Given the description of an element on the screen output the (x, y) to click on. 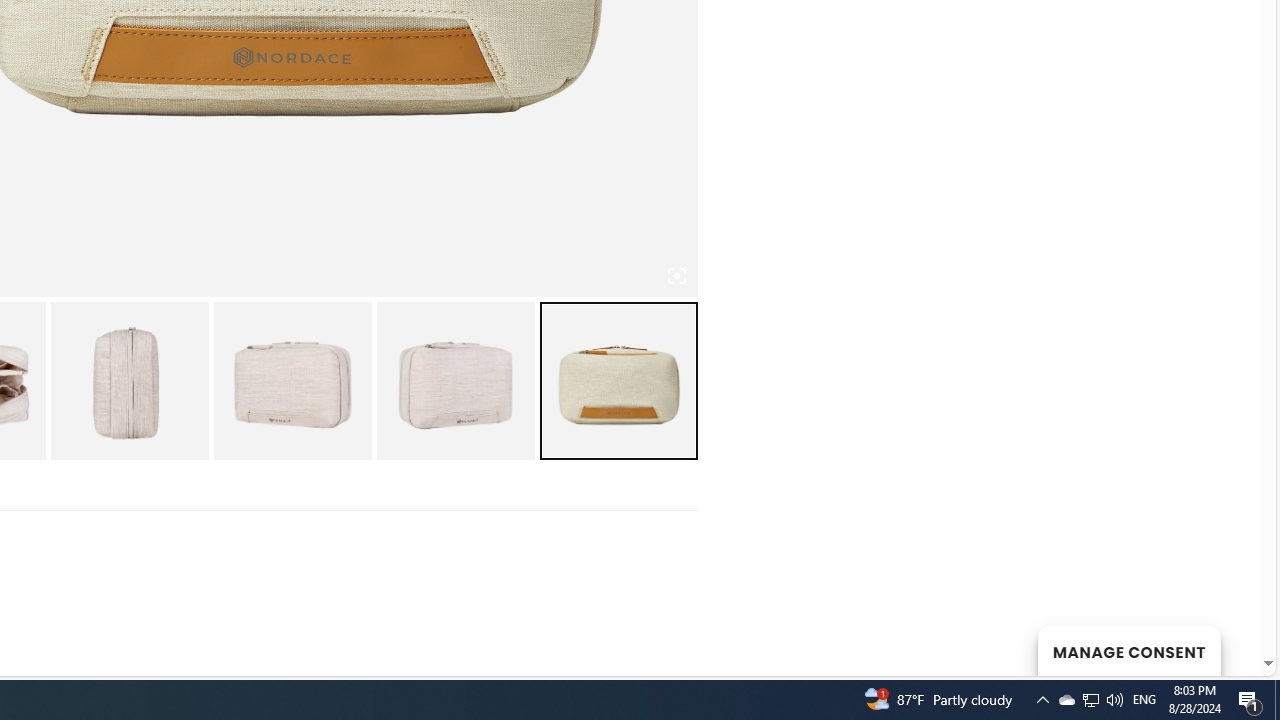
MANAGE CONSENT (1128, 650)
Nordace Siena Pro Wash Pouch (128, 380)
Class: iconic-woothumbs-fullscreen (676, 276)
